Given the description of an element on the screen output the (x, y) to click on. 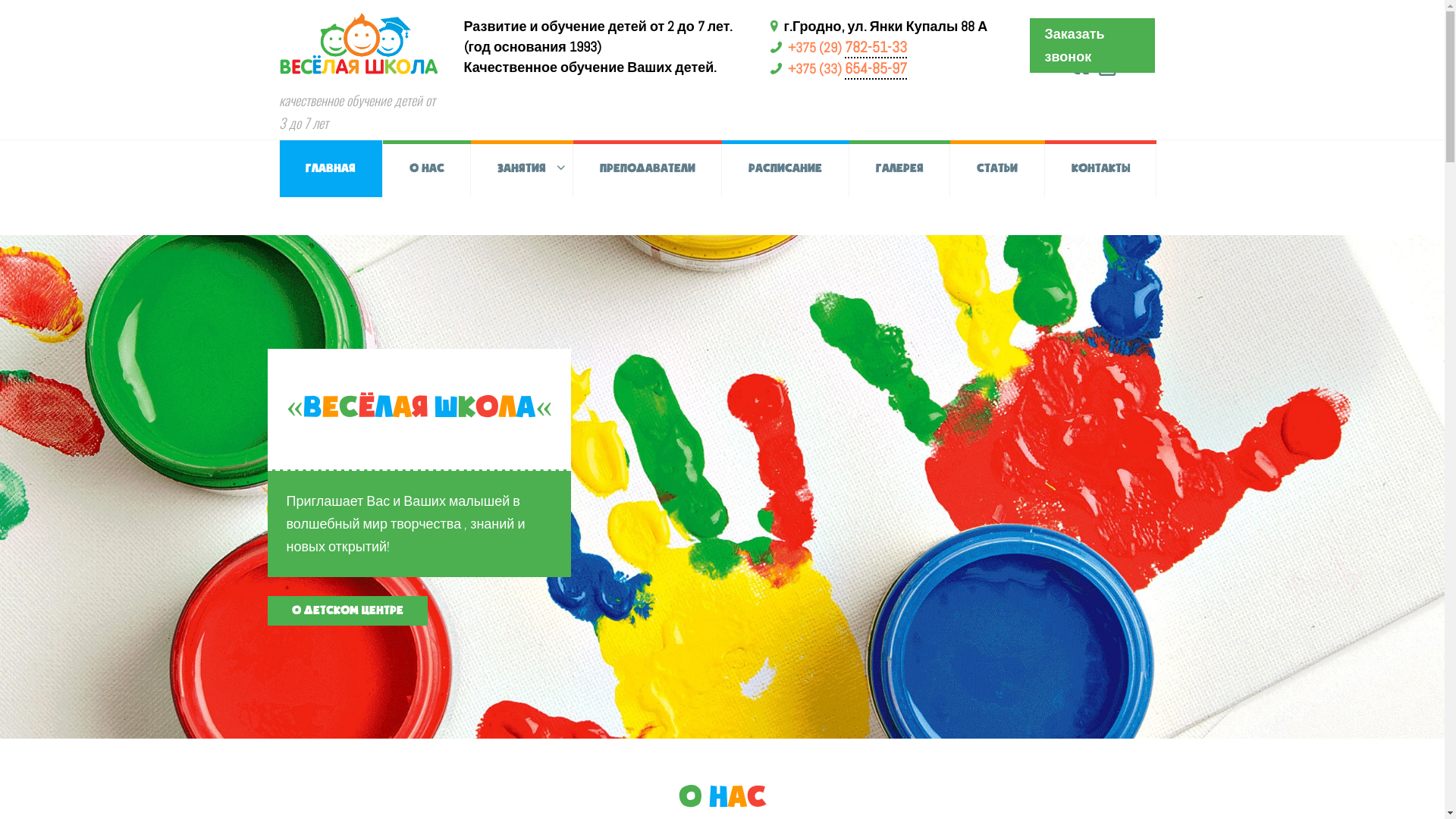
+375 (29) 782-51-33 Element type: text (846, 47)
+375 (33) 654-85-97 Element type: text (846, 68)
